Given the description of an element on the screen output the (x, y) to click on. 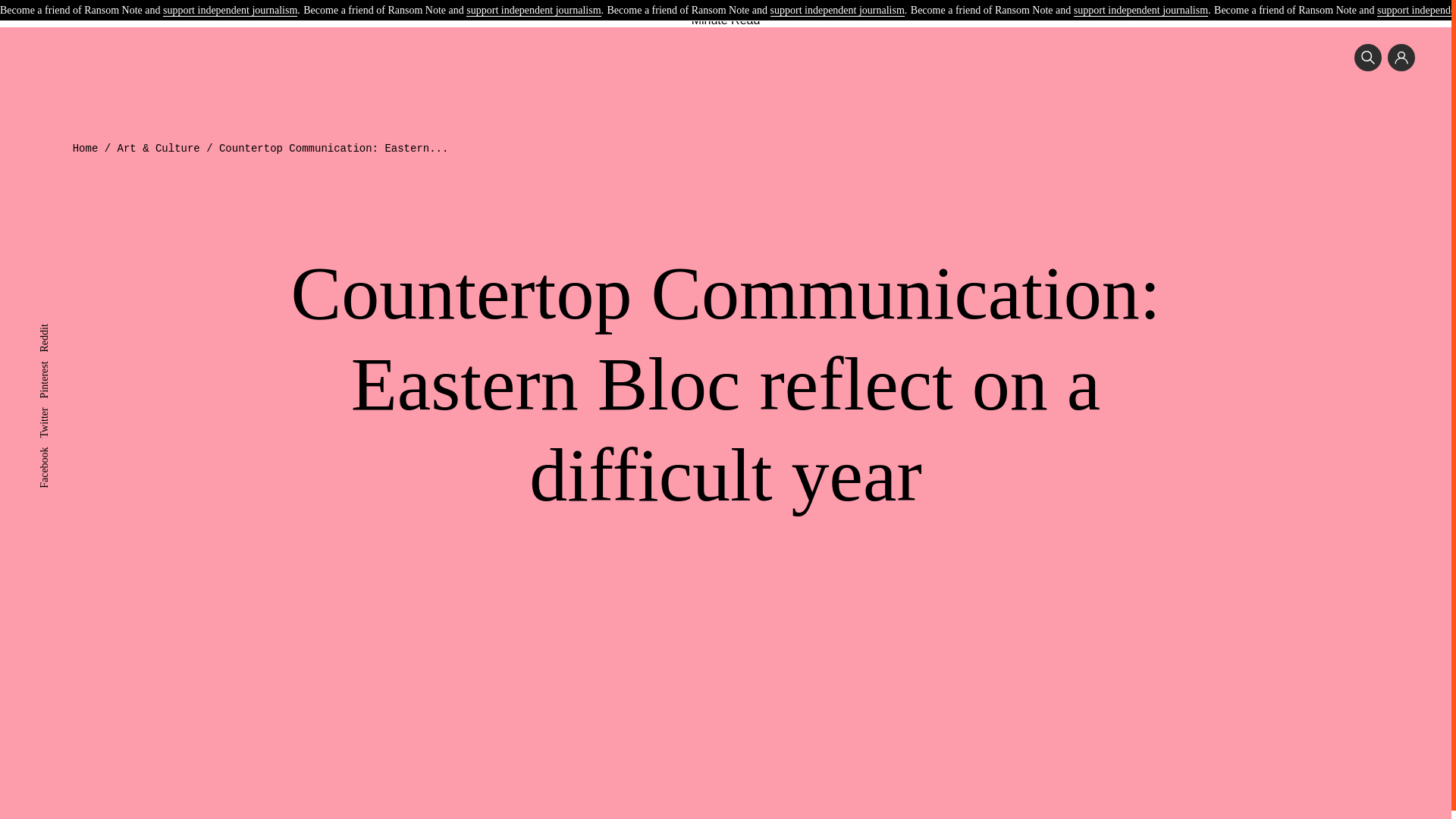
Pinterest (57, 367)
Home (85, 148)
support independent journalism (837, 10)
Shop (895, 3)
support independent journalism (532, 10)
Music (558, 3)
support independent journalism (1141, 10)
Facebook (59, 452)
support independent journalism (230, 10)
Reddit (52, 329)
